Given the description of an element on the screen output the (x, y) to click on. 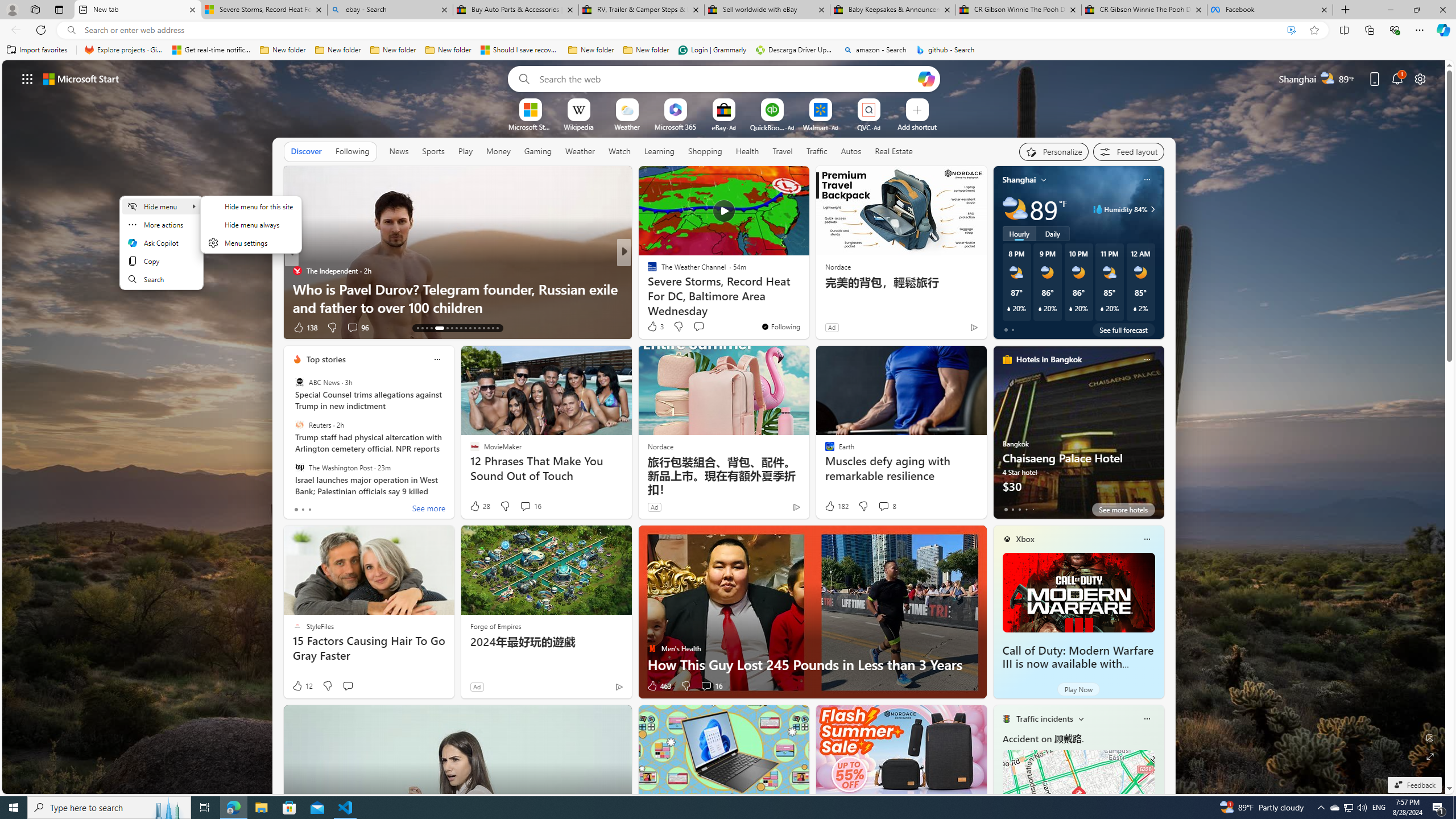
12 Like (301, 685)
To get missing image descriptions, open the context menu. (529, 109)
tab-2 (1019, 509)
Page settings (1420, 78)
Top stories (325, 359)
The #1 Best Bench Press Workout To Increase Strength (807, 298)
Enhance video (1291, 29)
Notifications (1397, 78)
